Given the description of an element on the screen output the (x, y) to click on. 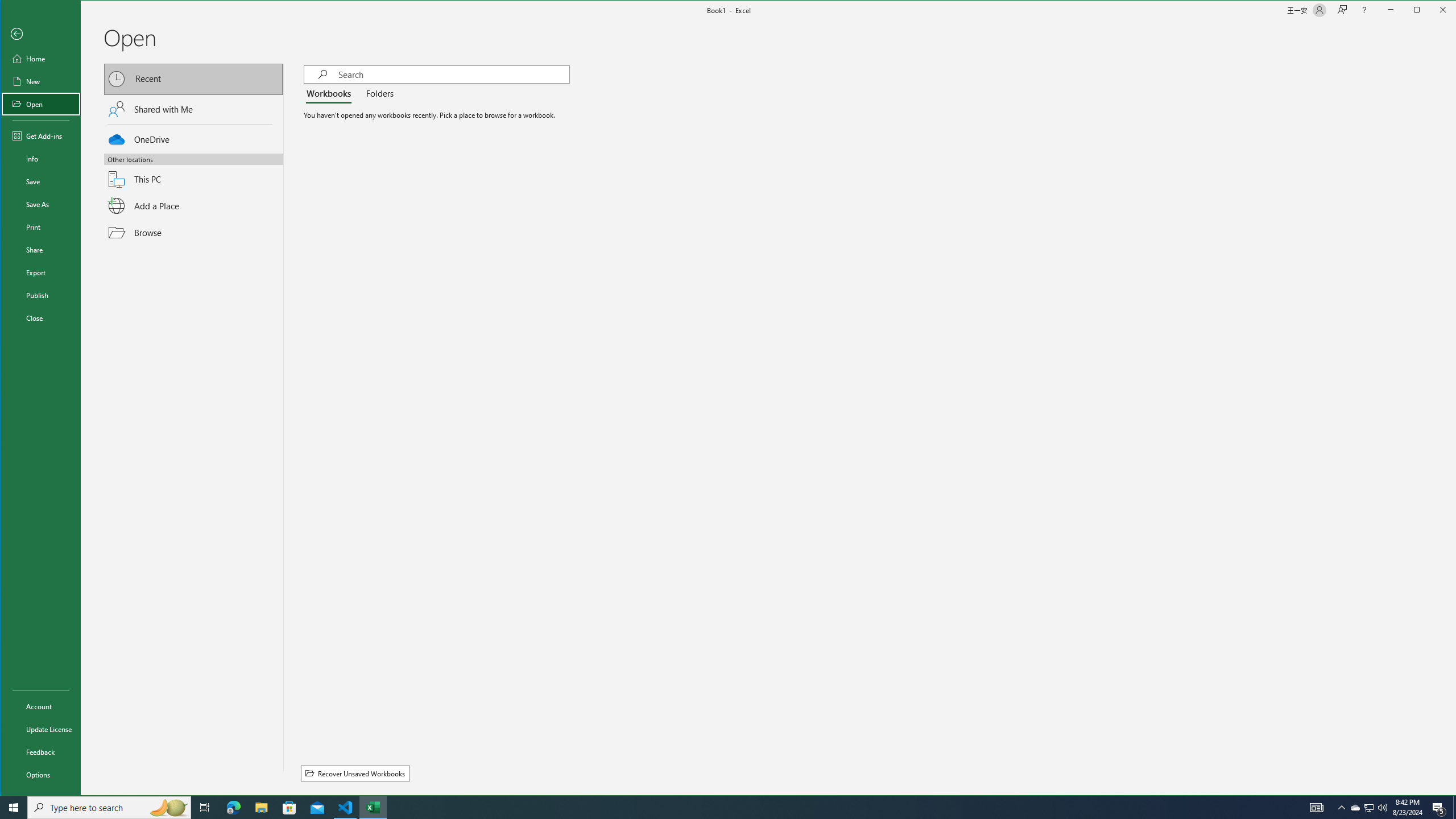
Search (453, 74)
Microsoft Edge (233, 807)
Shared with Me (193, 109)
Recover Unsaved Workbooks (355, 773)
Add a Place (193, 205)
Publish (40, 295)
File Explorer (261, 807)
New (40, 80)
